Given the description of an element on the screen output the (x, y) to click on. 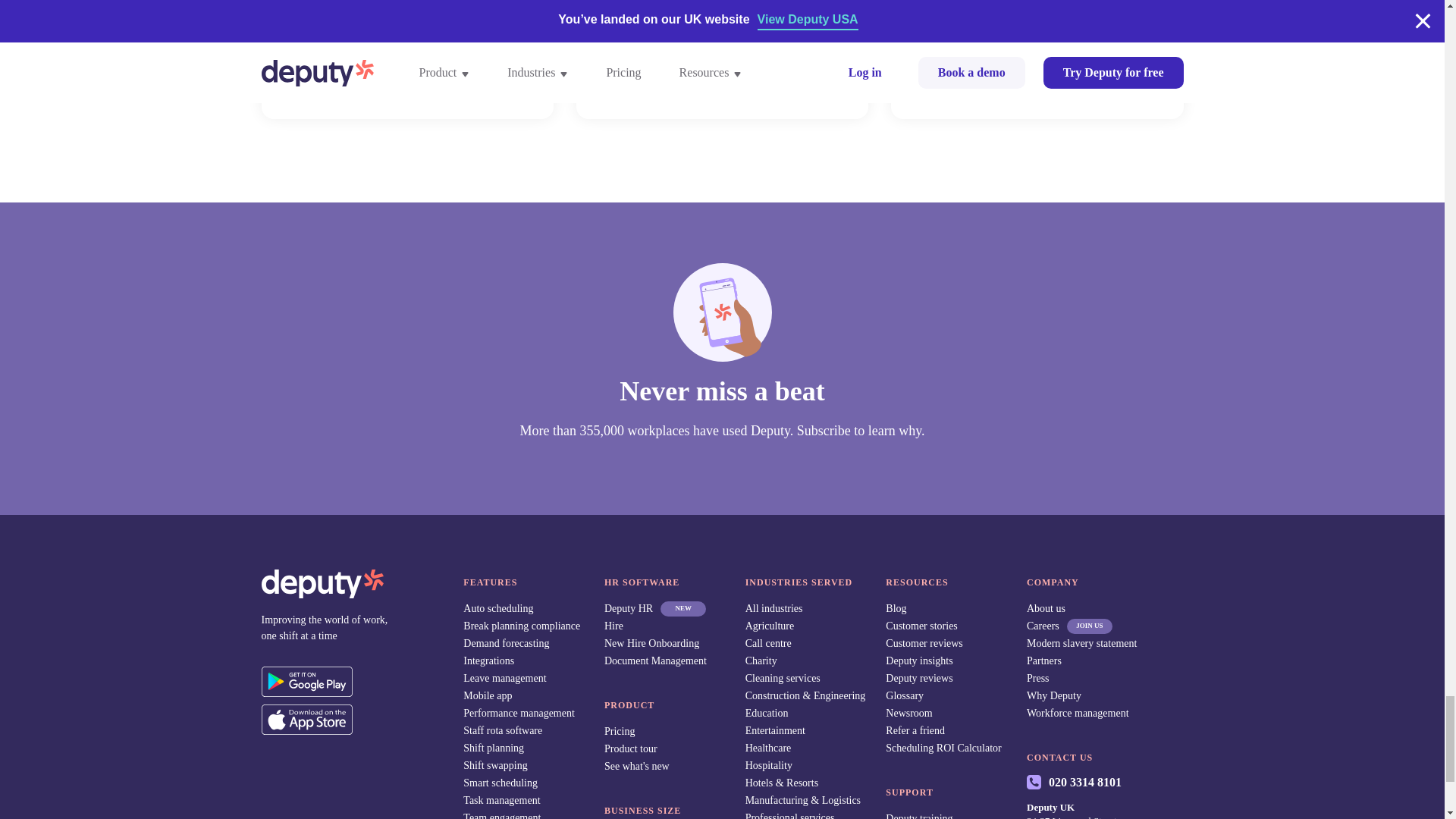
The Best Ways to Manage Employee Leave (406, 59)
